Given the description of an element on the screen output the (x, y) to click on. 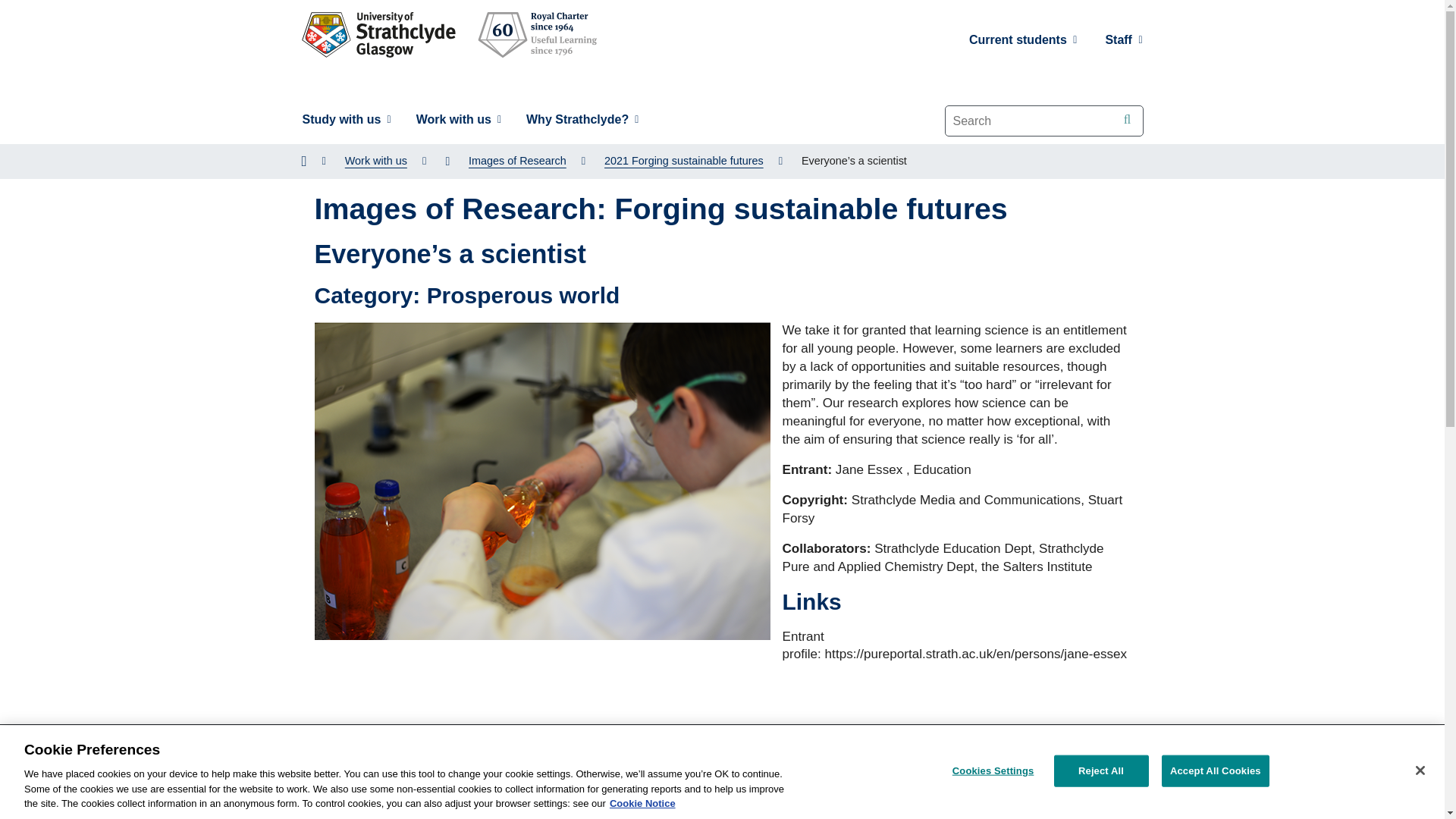
Current students (1024, 39)
Work with us (457, 119)
Why Strathclyde? (582, 119)
Study with us (346, 119)
